Given the description of an element on the screen output the (x, y) to click on. 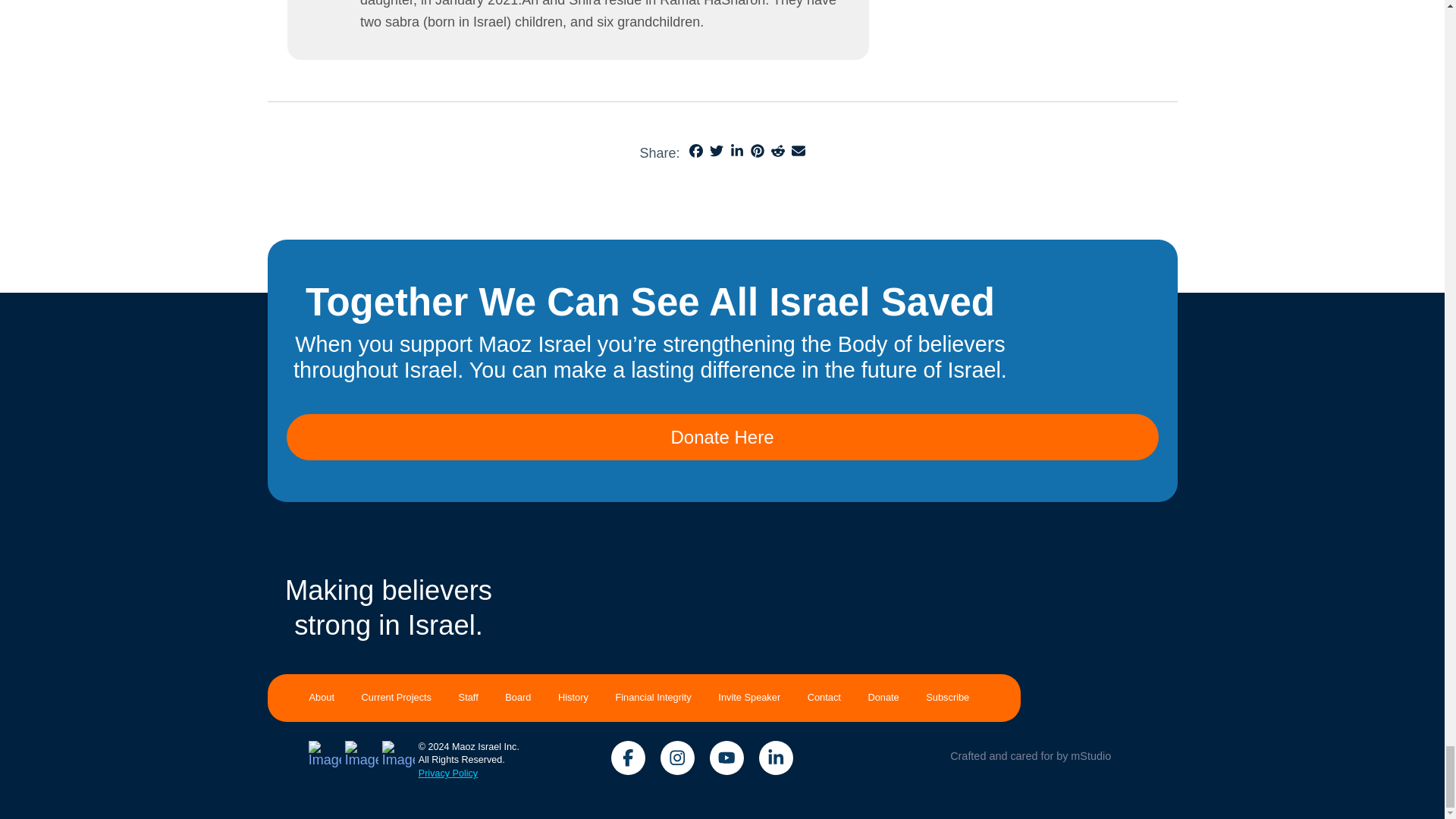
Subscribe (948, 697)
Contact (823, 697)
History (572, 697)
Donate Here (722, 437)
About (325, 697)
Staff (468, 697)
Board (518, 697)
Donate (883, 697)
Current Projects (396, 697)
Financial Integrity (653, 697)
Invite Speaker (748, 697)
